Given the description of an element on the screen output the (x, y) to click on. 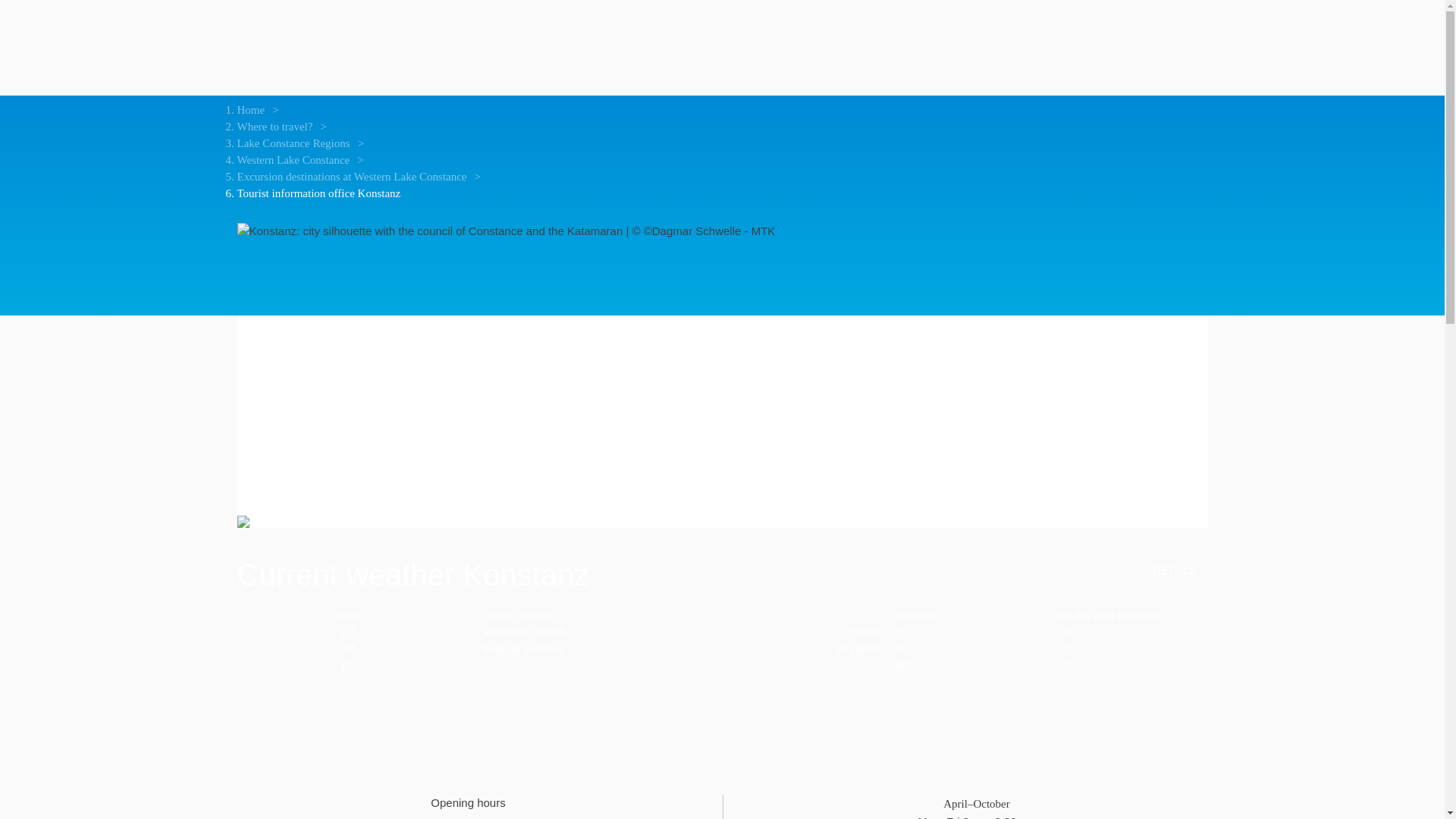
min (968, 664)
max (1133, 647)
max (403, 647)
min (403, 664)
max (968, 647)
min (1133, 664)
